Given the description of an element on the screen output the (x, y) to click on. 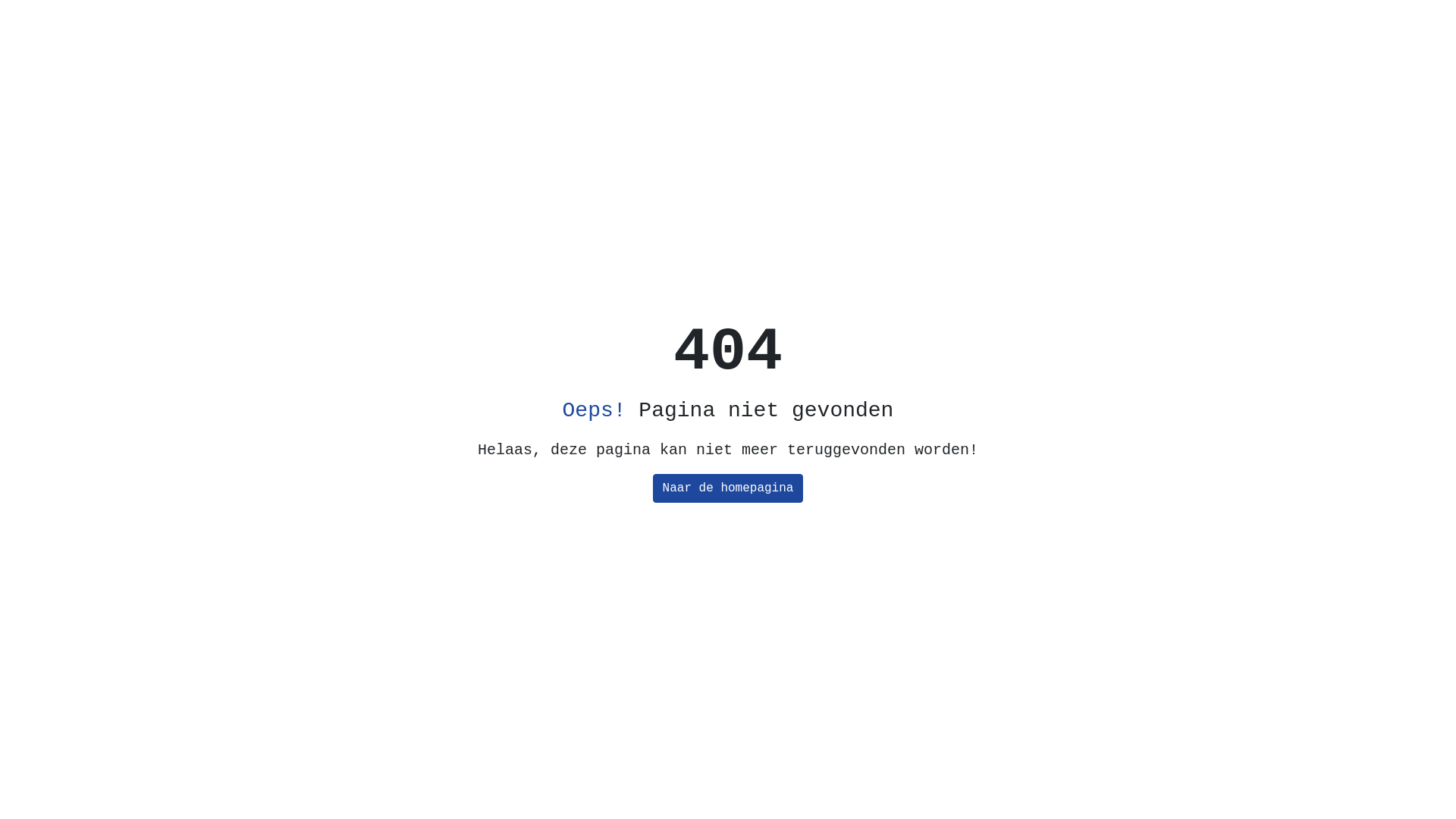
Naar de homepagina Element type: text (727, 487)
